Given the description of an element on the screen output the (x, y) to click on. 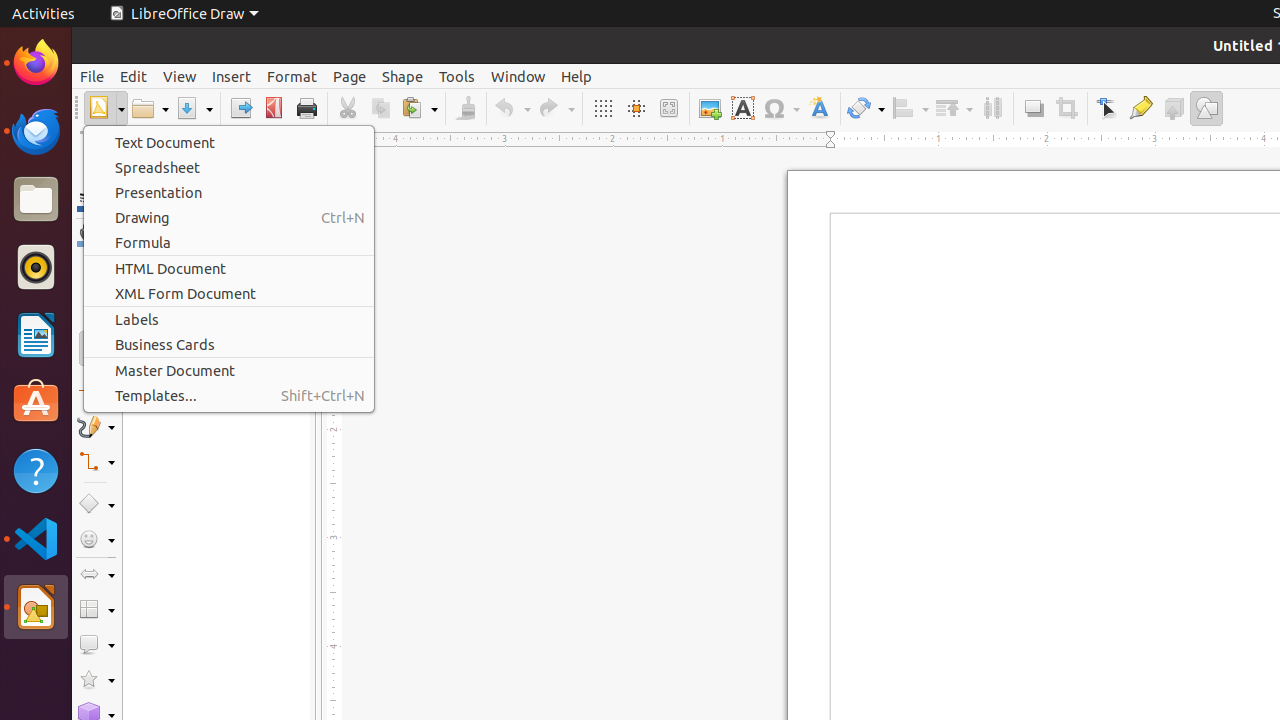
LibreOffice Draw Element type: menu (183, 13)
Thunderbird Mail Element type: push-button (36, 131)
Rhythmbox Element type: push-button (36, 267)
